Given the description of an element on the screen output the (x, y) to click on. 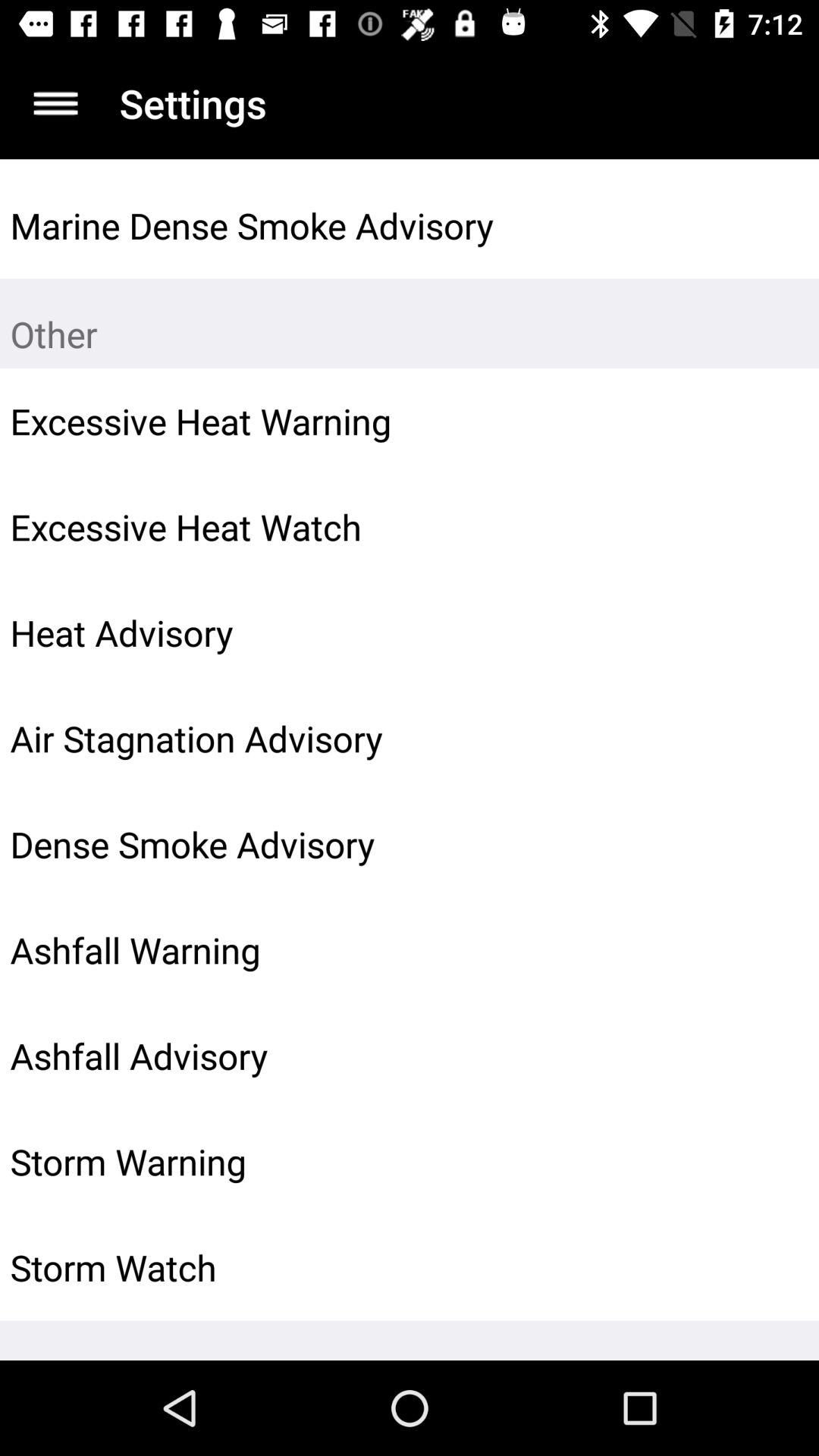
press air stagnation advisory item (366, 738)
